Given the description of an element on the screen output the (x, y) to click on. 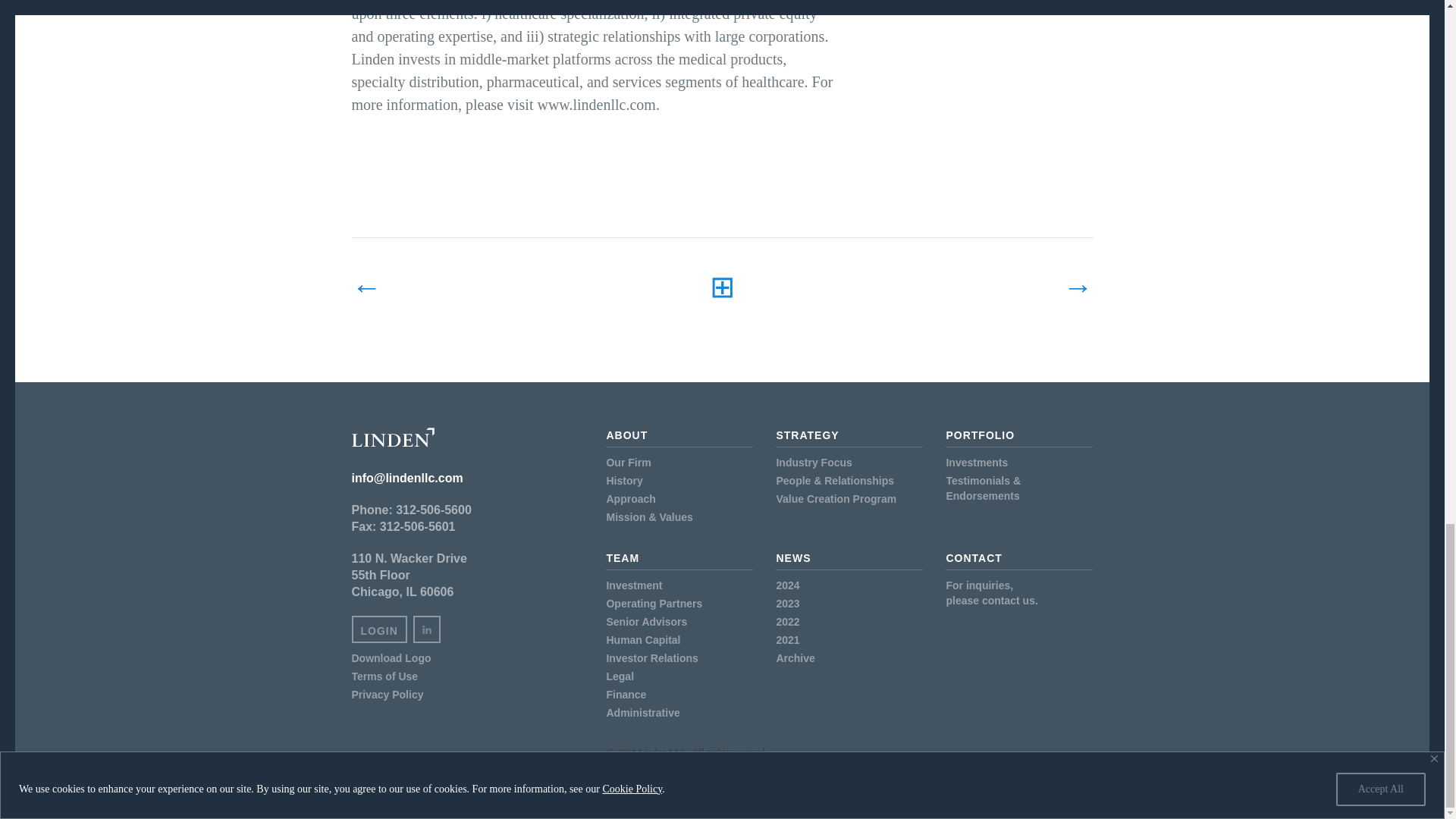
Linden LLC on LinkedIn (427, 628)
Investor Login (379, 628)
Linden LLC News (722, 287)
Linden LLC (392, 437)
